Given the description of an element on the screen output the (x, y) to click on. 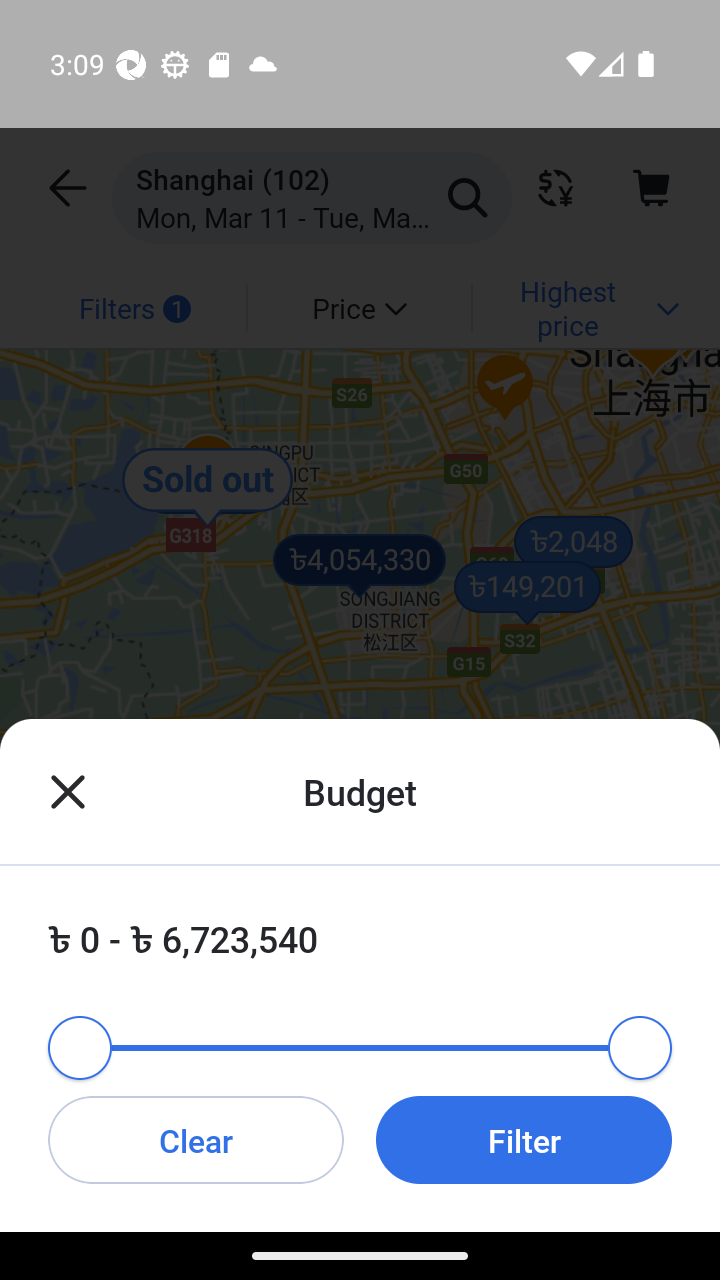
Clear (196, 1139)
Filter (523, 1139)
